Given the description of an element on the screen output the (x, y) to click on. 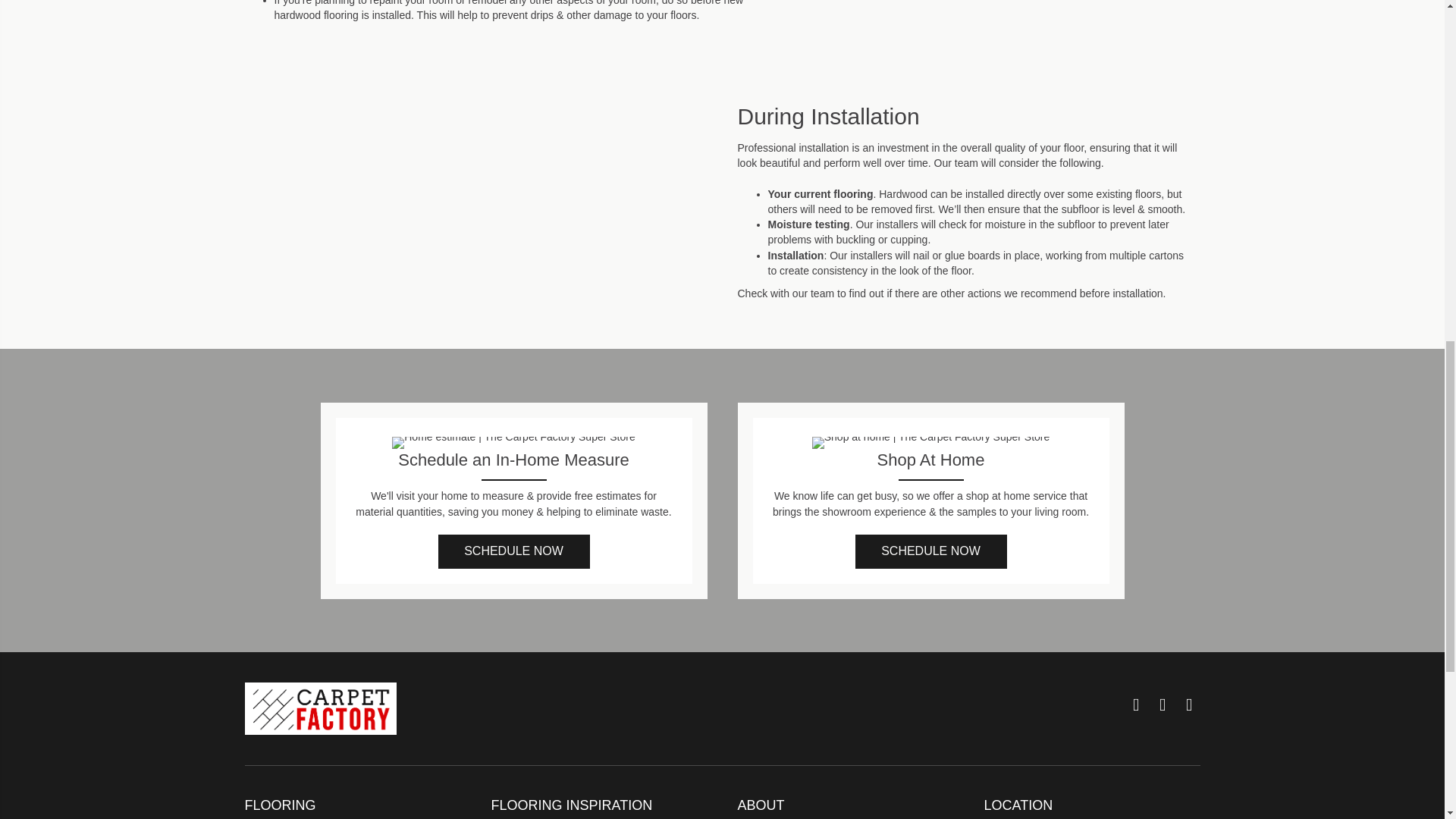
home-estimate11-1 (512, 442)
New-logo (320, 708)
shopathome1 (930, 442)
FLOORING INSPIRATION (572, 805)
Click Here (931, 551)
FLOORING (279, 805)
Click Here (513, 551)
ABOUT (760, 805)
